Given the description of an element on the screen output the (x, y) to click on. 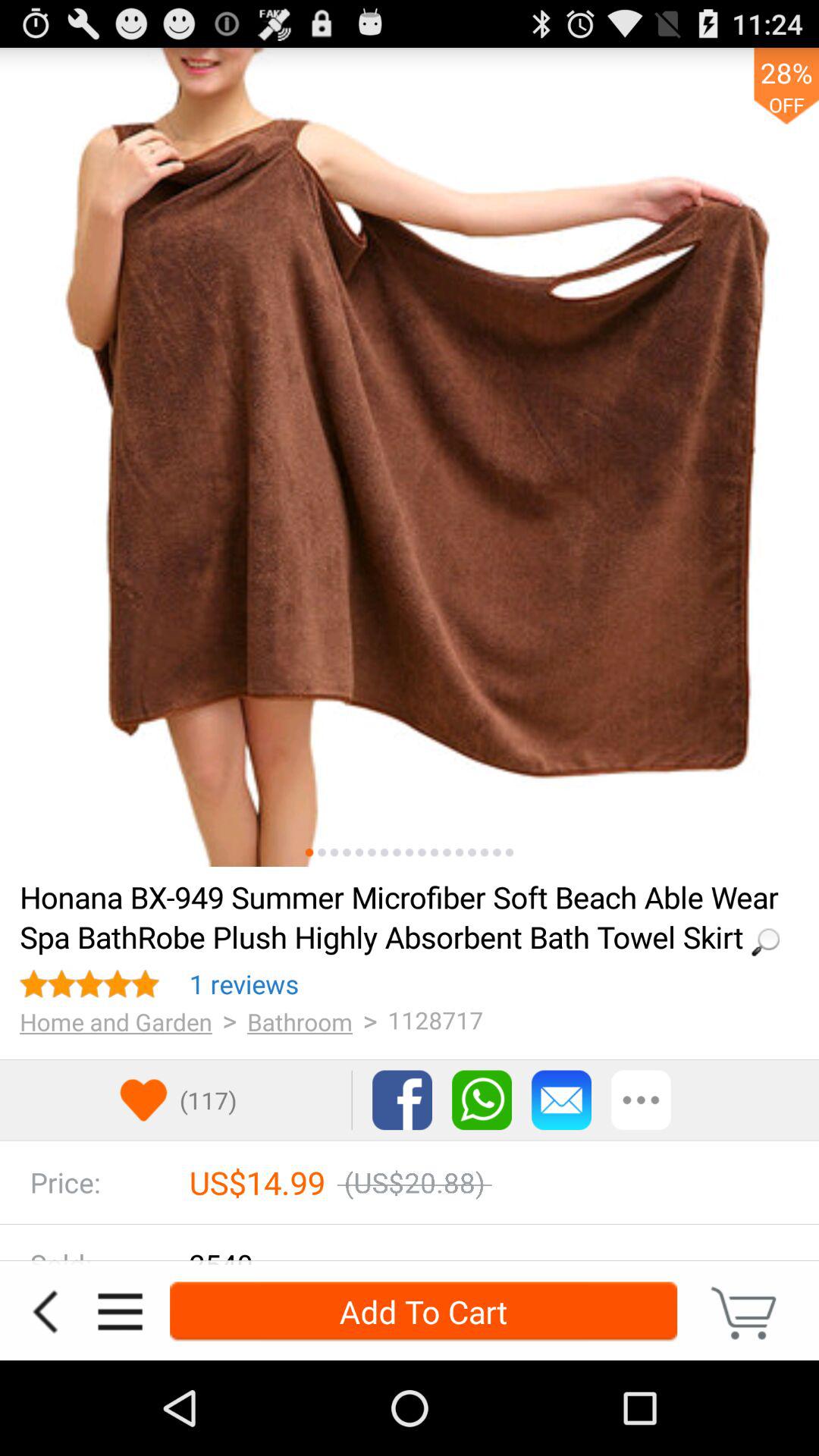
select image (384, 852)
